Given the description of an element on the screen output the (x, y) to click on. 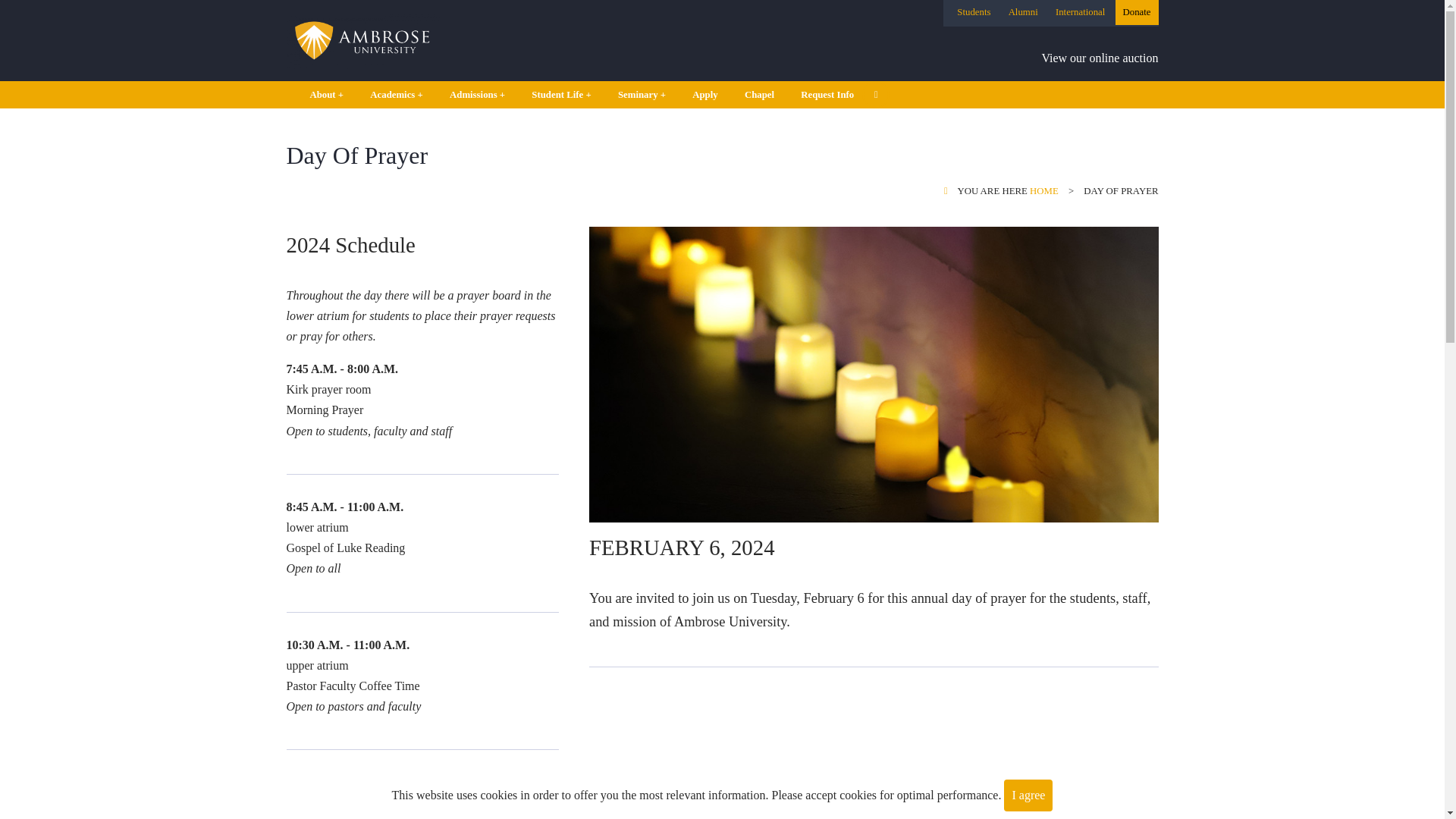
International (1080, 11)
Donate (1136, 11)
View our online auction (1099, 57)
Ambrose Day of Prayer - February 6th, 2024 (873, 756)
Students (973, 11)
Alumni (1023, 11)
